Given the description of an element on the screen output the (x, y) to click on. 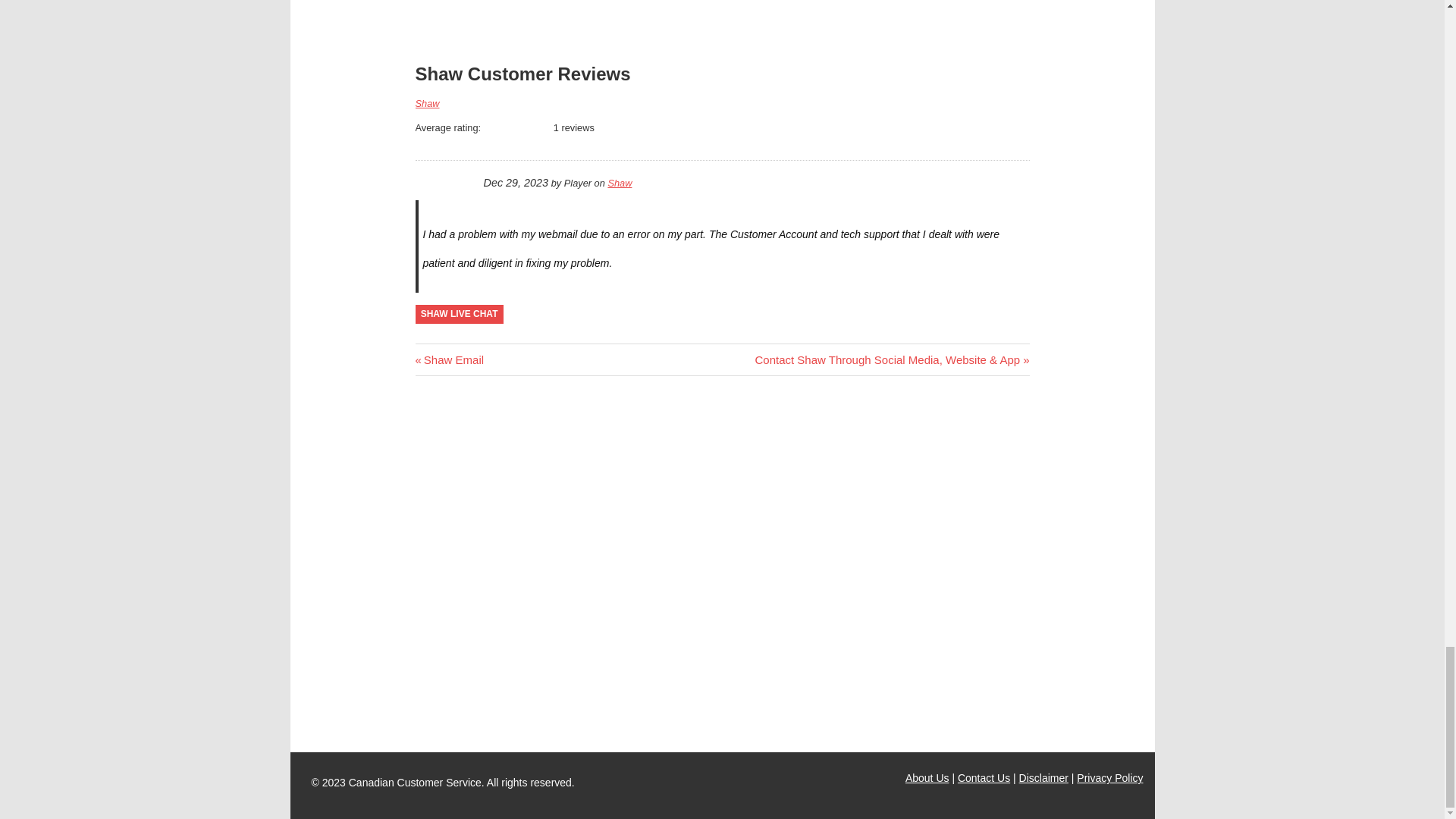
Shaw (619, 183)
Contact Us (449, 359)
Advertisement (984, 777)
SHAW LIVE CHAT (490, 7)
About Us (458, 313)
Shaw (927, 777)
Disclaimer (426, 102)
Privacy Policy (1043, 777)
